Given the description of an element on the screen output the (x, y) to click on. 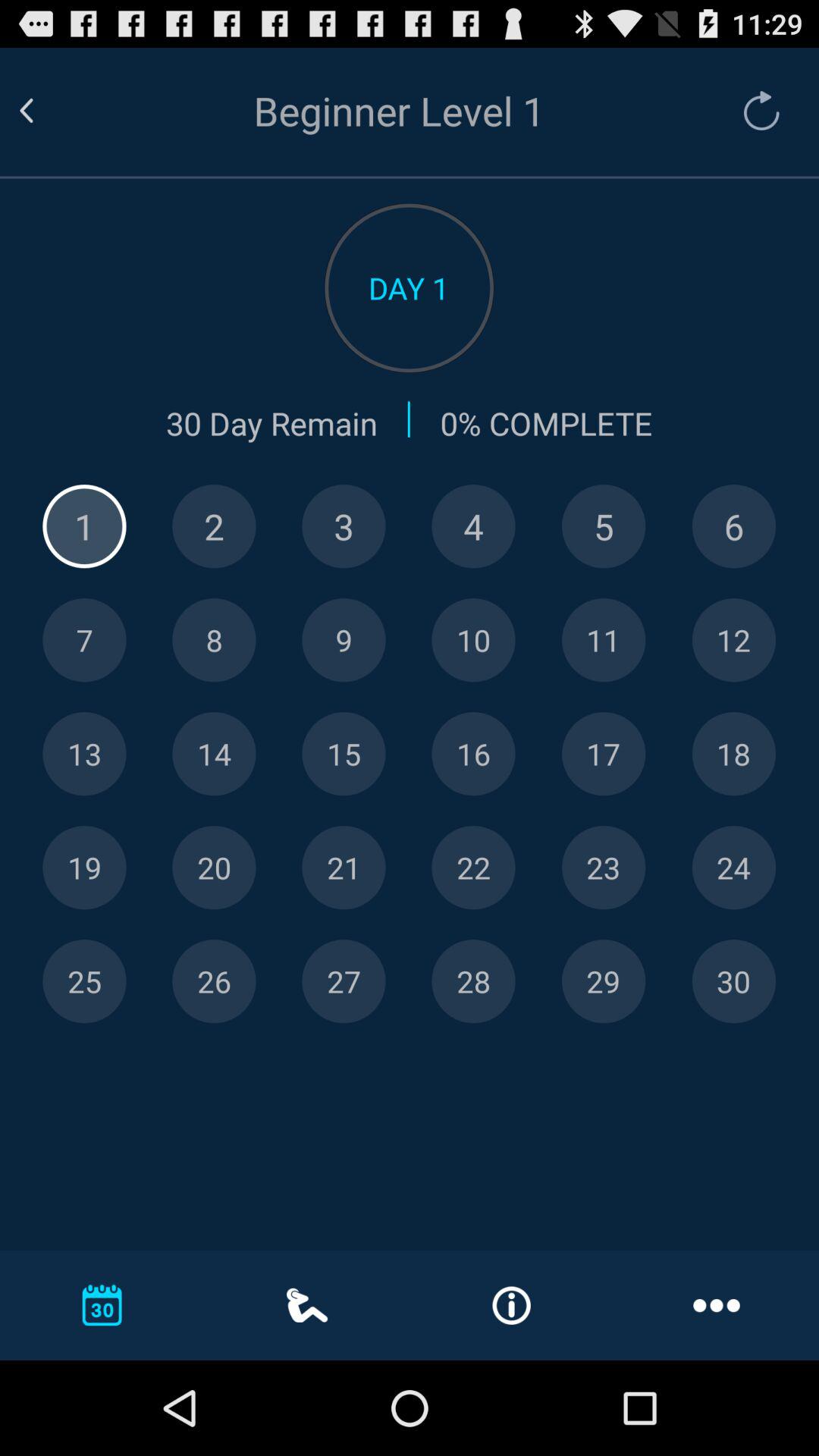
go to keyborad (343, 867)
